Given the description of an element on the screen output the (x, y) to click on. 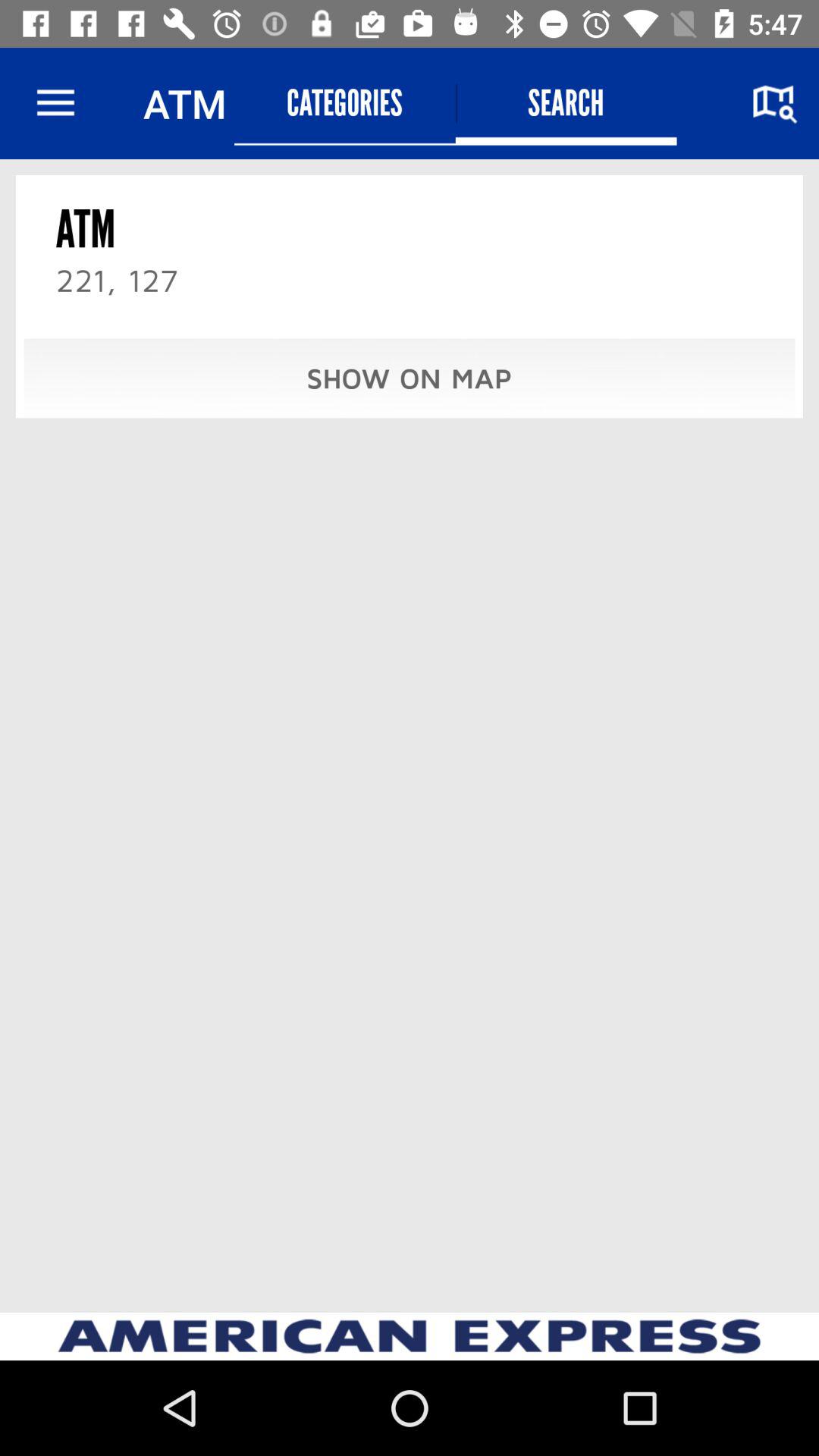
launch the item next to search (344, 103)
